Given the description of an element on the screen output the (x, y) to click on. 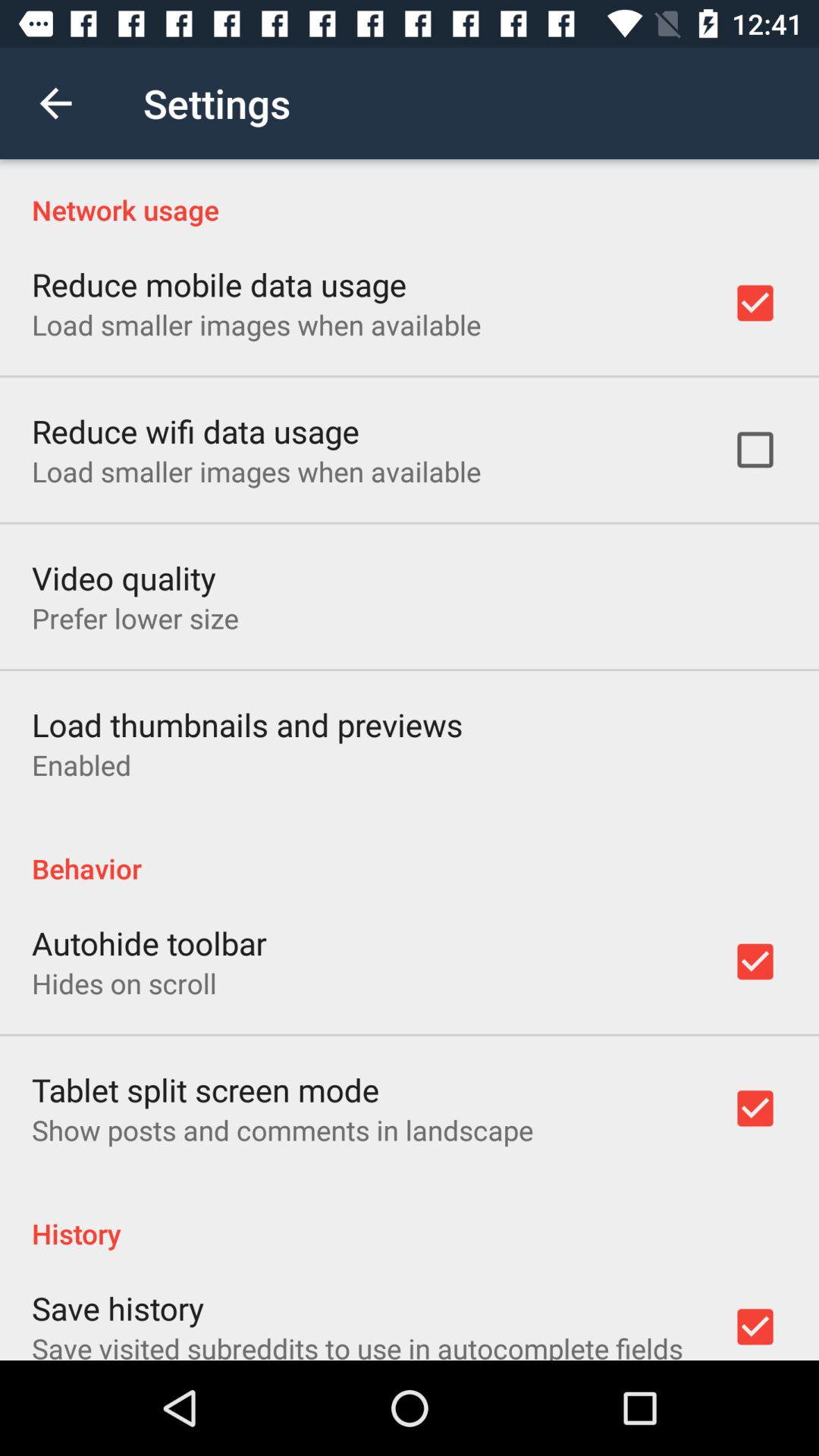
select item above save visited subreddits item (117, 1307)
